Given the description of an element on the screen output the (x, y) to click on. 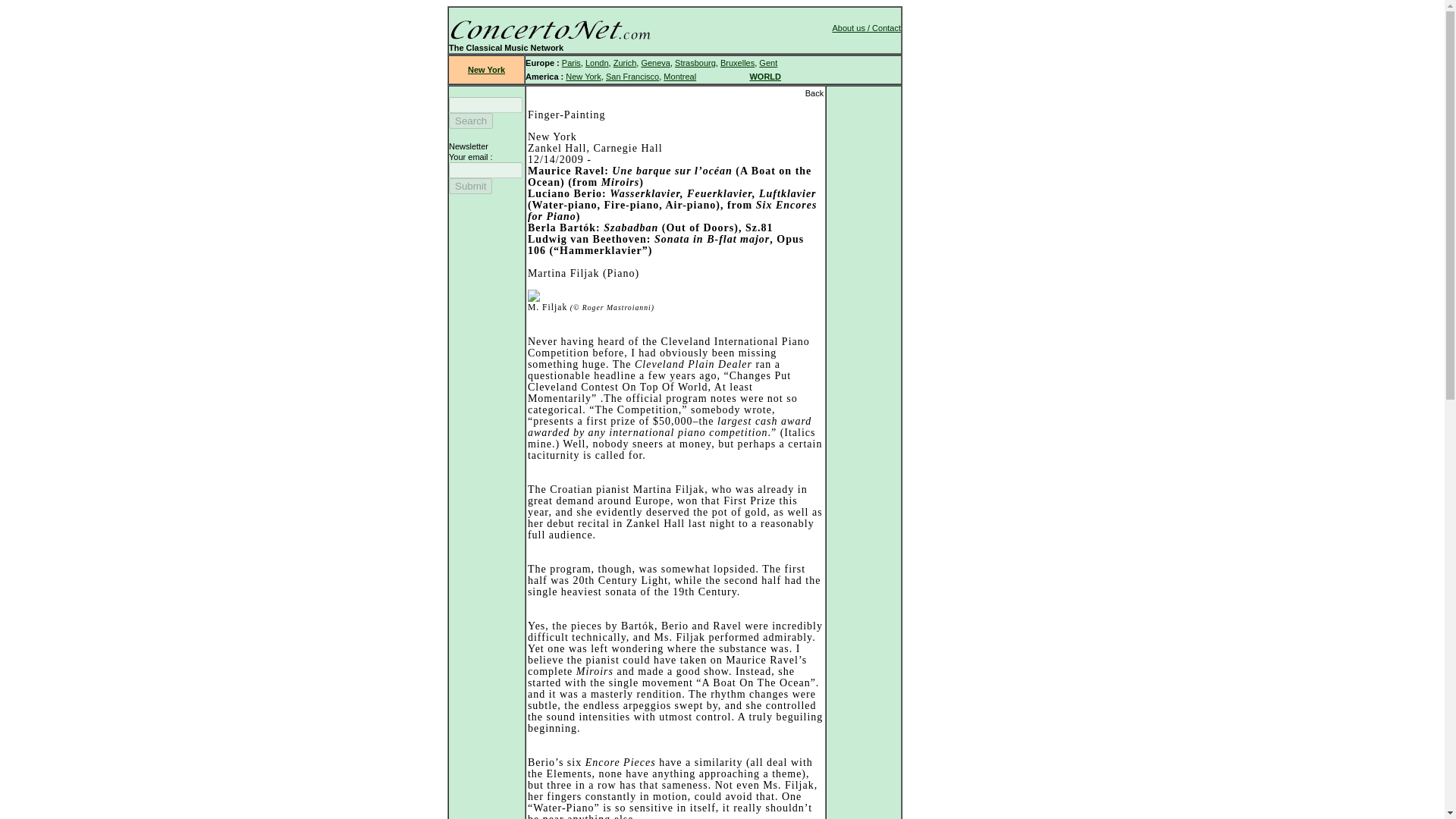
Paris (571, 62)
San Francisco (632, 76)
Londn (596, 62)
Montreal (679, 76)
Bruxelles (737, 62)
Submit (470, 186)
Strasbourg (695, 62)
Gent (767, 62)
Geneva (654, 62)
Search (470, 120)
WORLD (764, 76)
Zurich (624, 62)
Back (814, 92)
Submit (470, 186)
New York (582, 76)
